Given the description of an element on the screen output the (x, y) to click on. 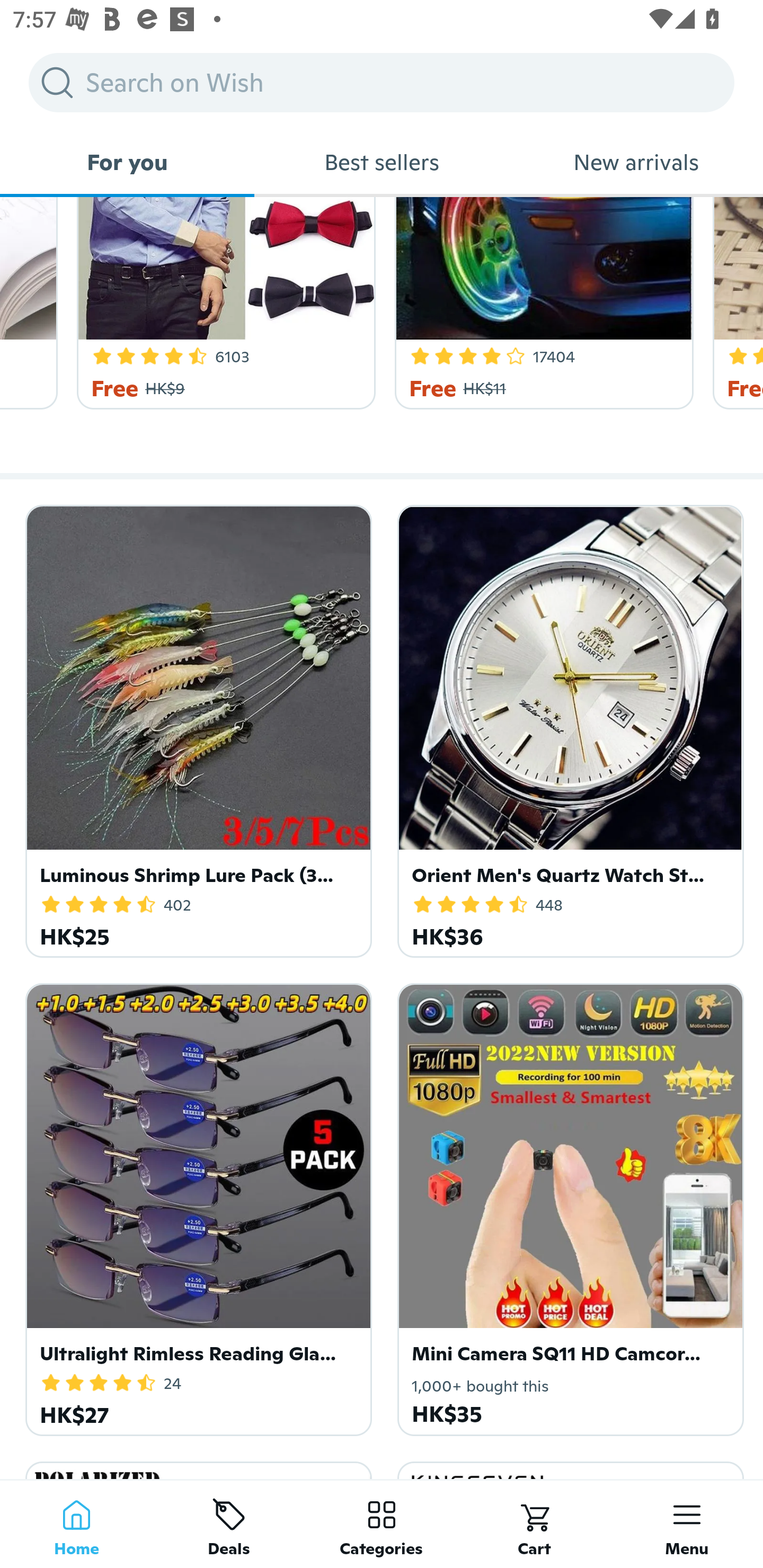
Search on Wish (381, 82)
For you (127, 161)
Best sellers (381, 161)
New arrivals (635, 161)
4.4 Star Rating 6103 Free HK$9 (222, 303)
3.8 Star Rating 17404 Free HK$11 (540, 303)
Home (76, 1523)
Deals (228, 1523)
Categories (381, 1523)
Cart (533, 1523)
Menu (686, 1523)
